Given the description of an element on the screen output the (x, y) to click on. 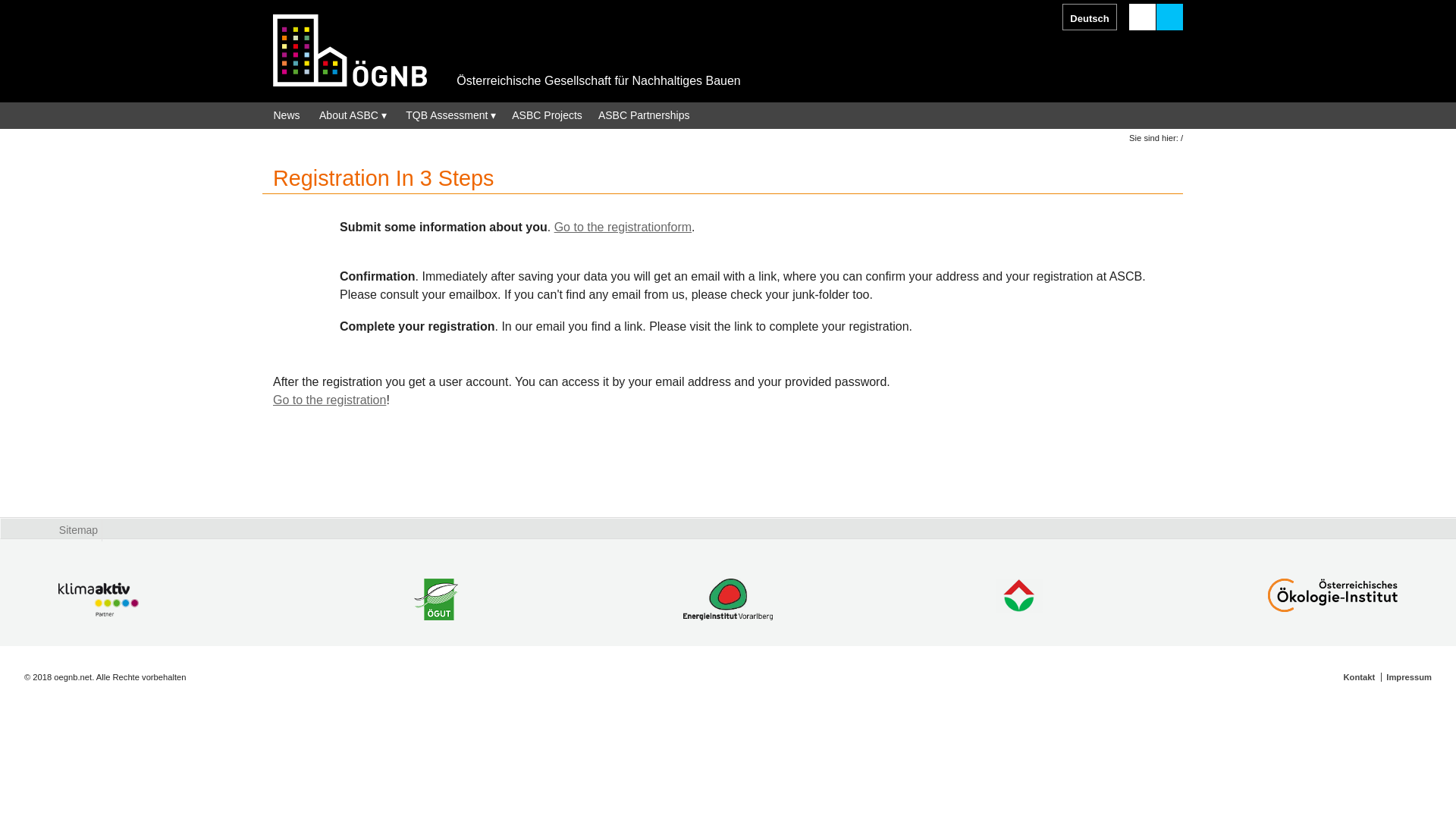
Go to the registrationform (622, 226)
News (285, 115)
Register (1142, 17)
IBO (1018, 600)
About ASBC (350, 115)
Deutsch (1089, 23)
Log in (1169, 17)
Diese Seite auf Facebook teilen (1048, 17)
Diese Seite auf Facebook teilen (1048, 17)
Log in (1169, 17)
